Given the description of an element on the screen output the (x, y) to click on. 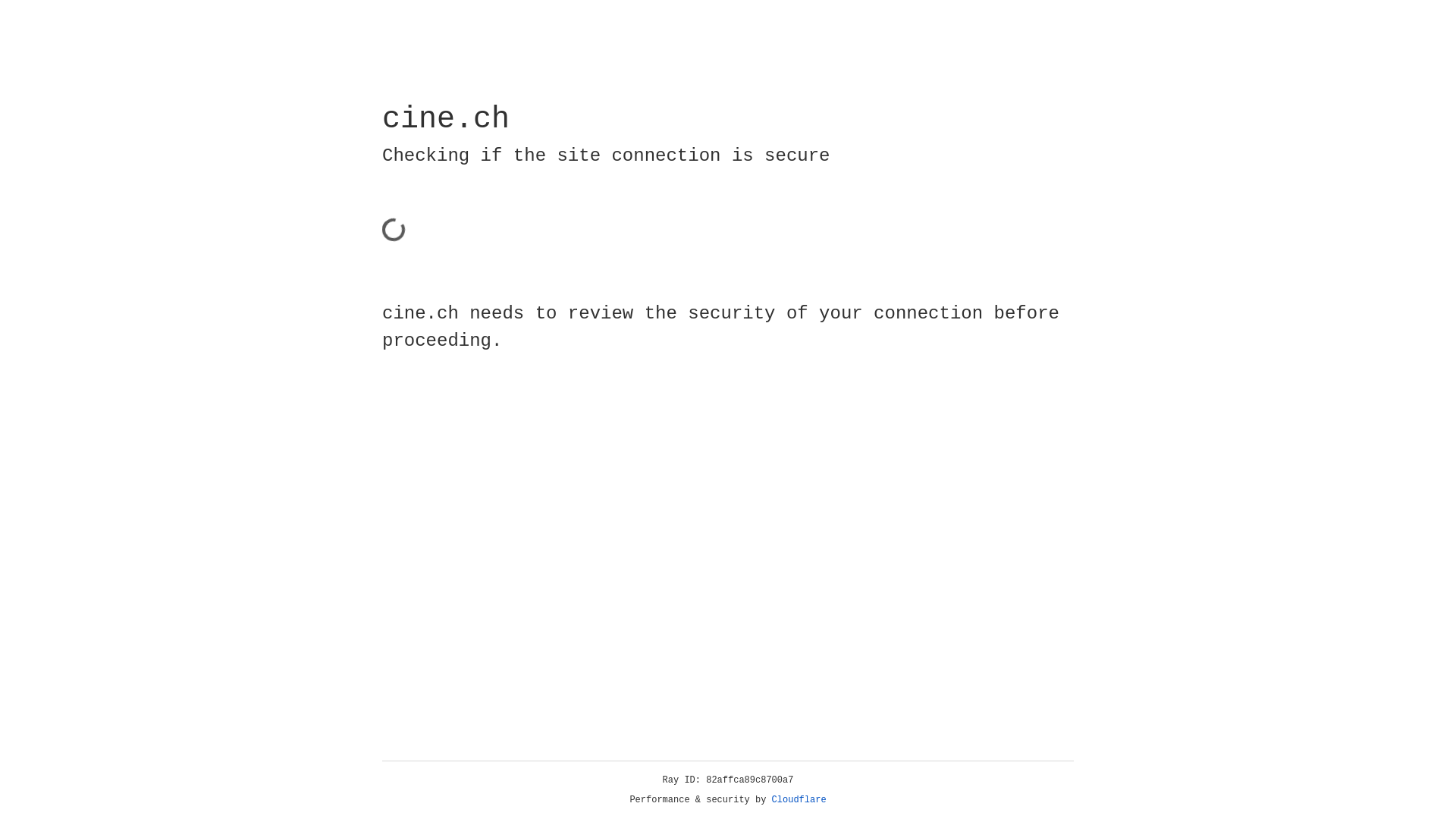
Cloudflare Element type: text (798, 799)
